Given the description of an element on the screen output the (x, y) to click on. 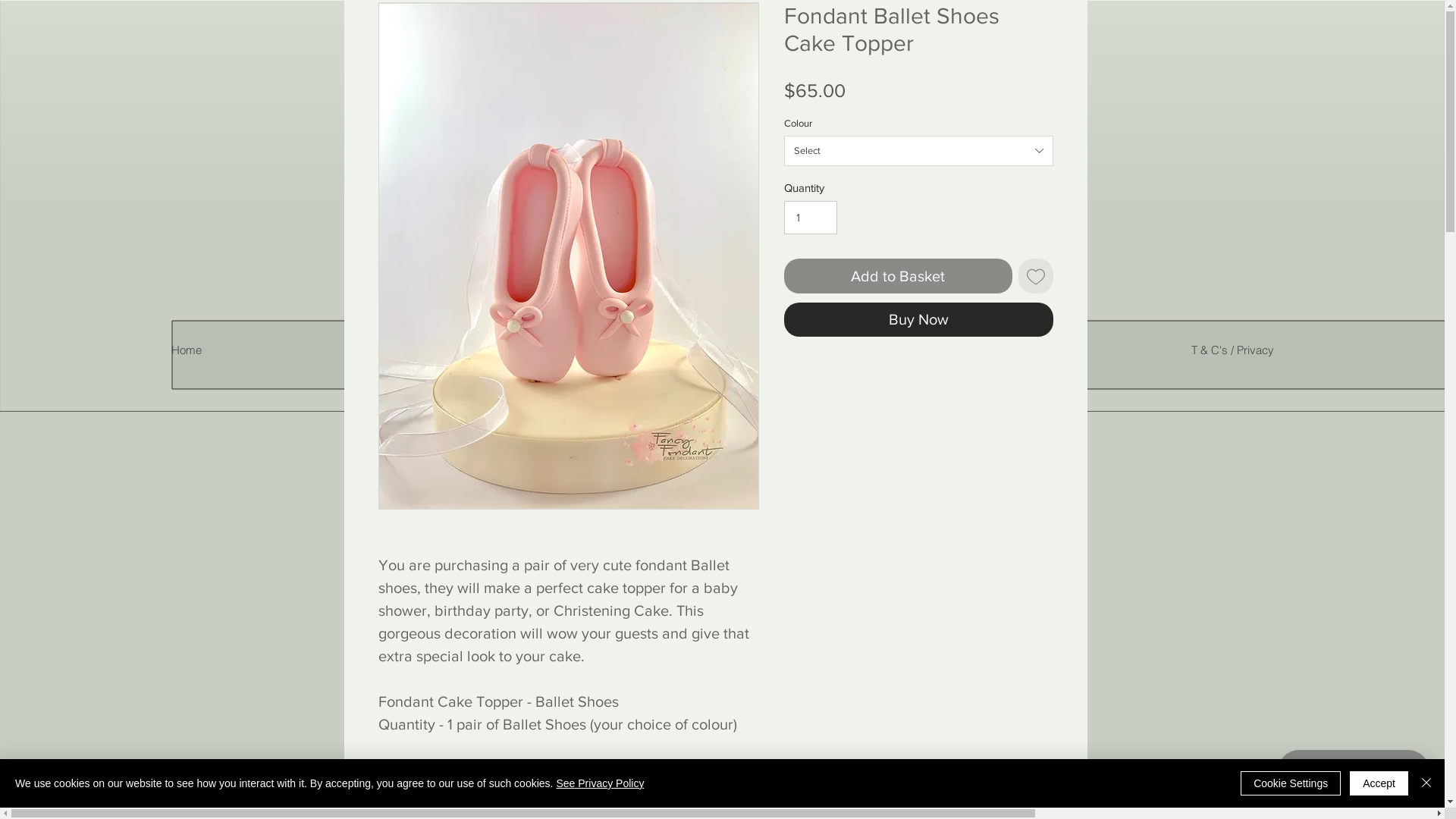
Wix Chat Element type: hover (1357, 774)
See Privacy Policy Element type: text (599, 783)
Select Element type: text (918, 150)
Buy Now Element type: text (918, 318)
Contact Element type: text (949, 350)
Accept Element type: text (1378, 783)
Cookie Settings Element type: text (1290, 783)
Add to Basket Element type: text (898, 274)
About Element type: text (693, 350)
T & C's / Privacy Element type: text (1231, 350)
Home Element type: text (185, 350)
0 Element type: text (997, 277)
Gallery Element type: text (439, 350)
